Given the description of an element on the screen output the (x, y) to click on. 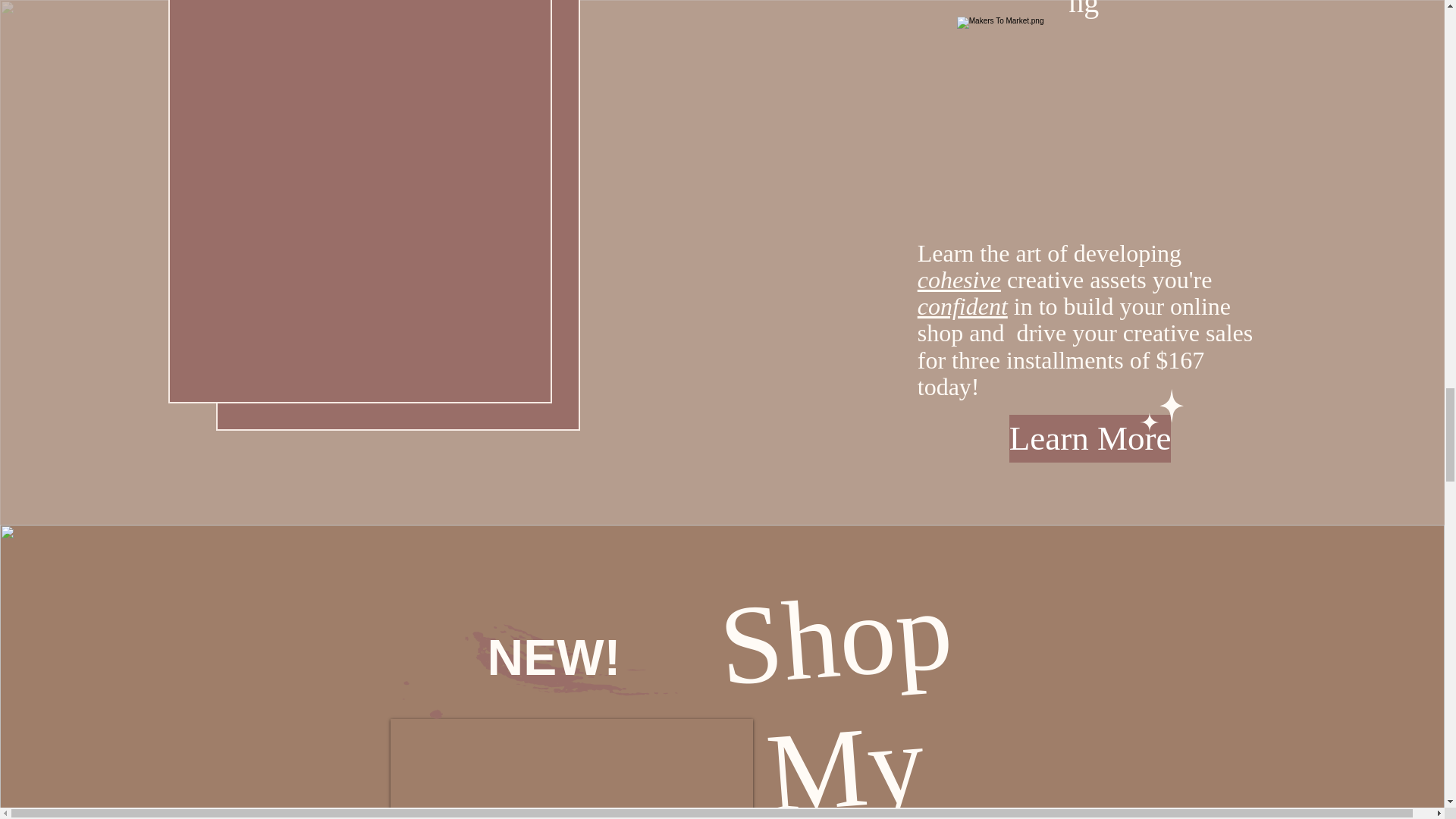
NEW! (553, 657)
Learn More (1090, 438)
